Given the description of an element on the screen output the (x, y) to click on. 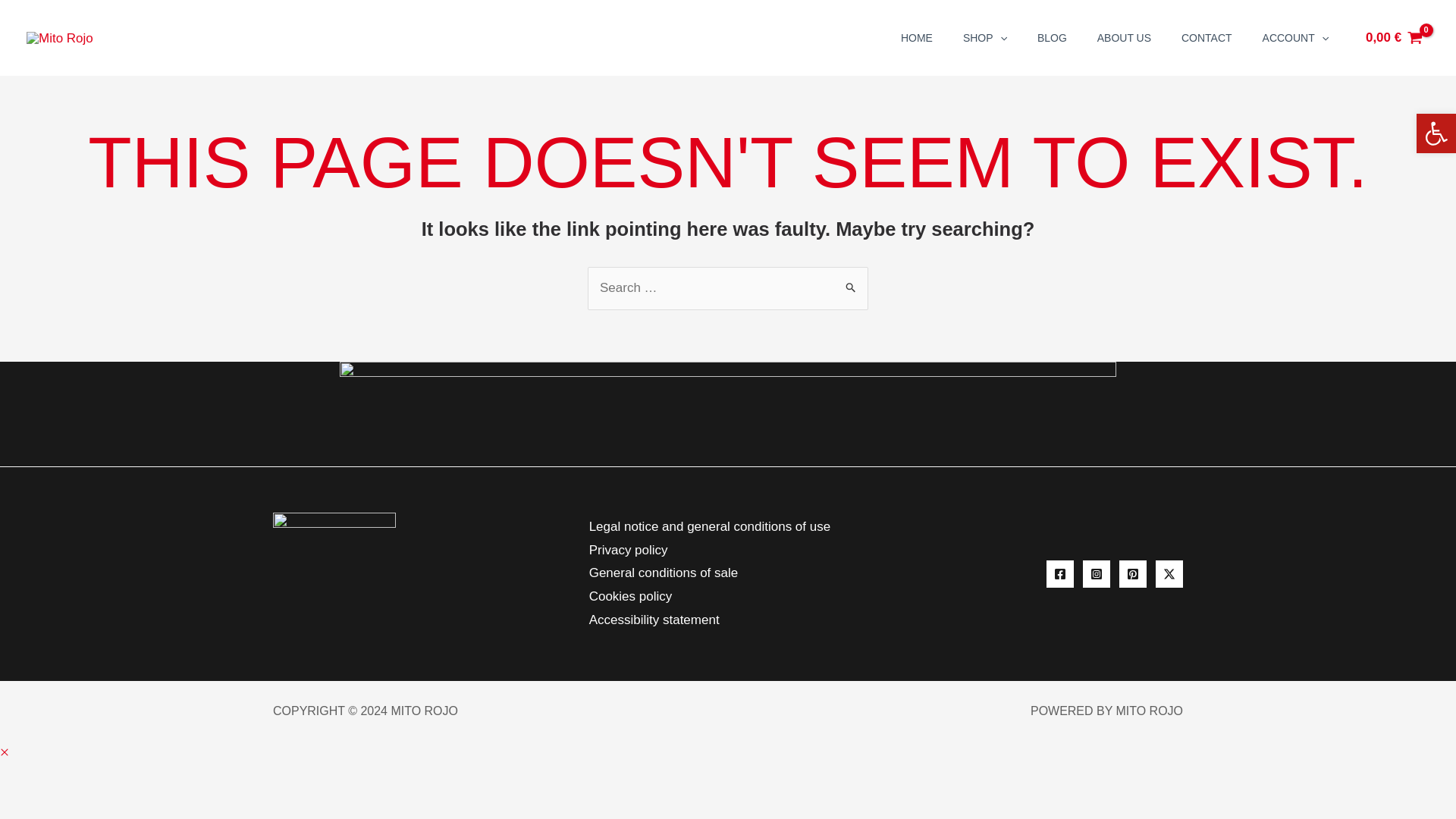
Search (850, 281)
Herramientas de accesibilidad (1435, 133)
Search (850, 281)
SHOP (984, 38)
